Given the description of an element on the screen output the (x, y) to click on. 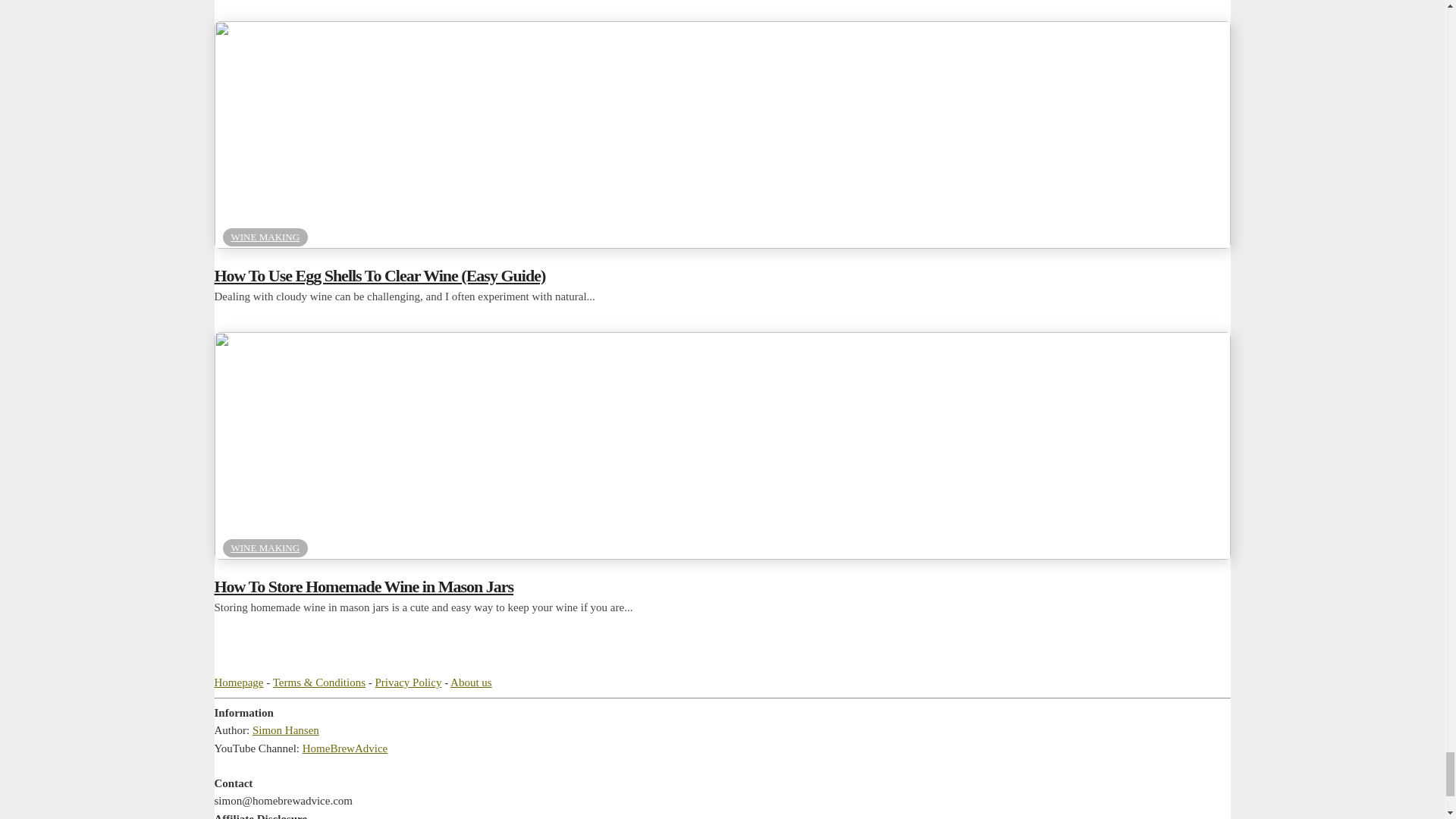
How To Store Homemade Wine in Mason Jars (722, 586)
How To Store Homemade Wine in Mason Jars (722, 554)
